Given the description of an element on the screen output the (x, y) to click on. 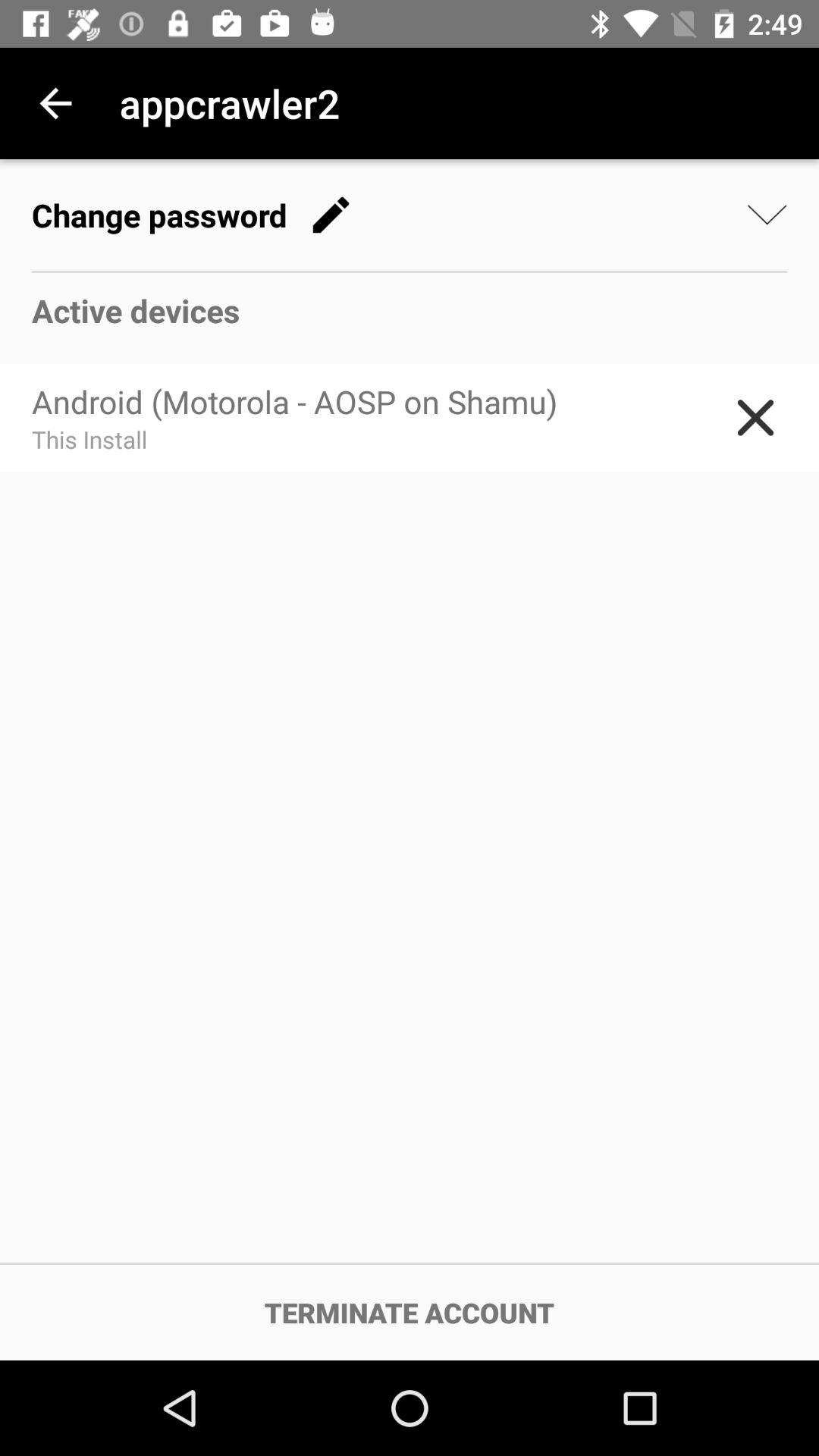
turn off the item to the right of the android motorola aosp (755, 417)
